Given the description of an element on the screen output the (x, y) to click on. 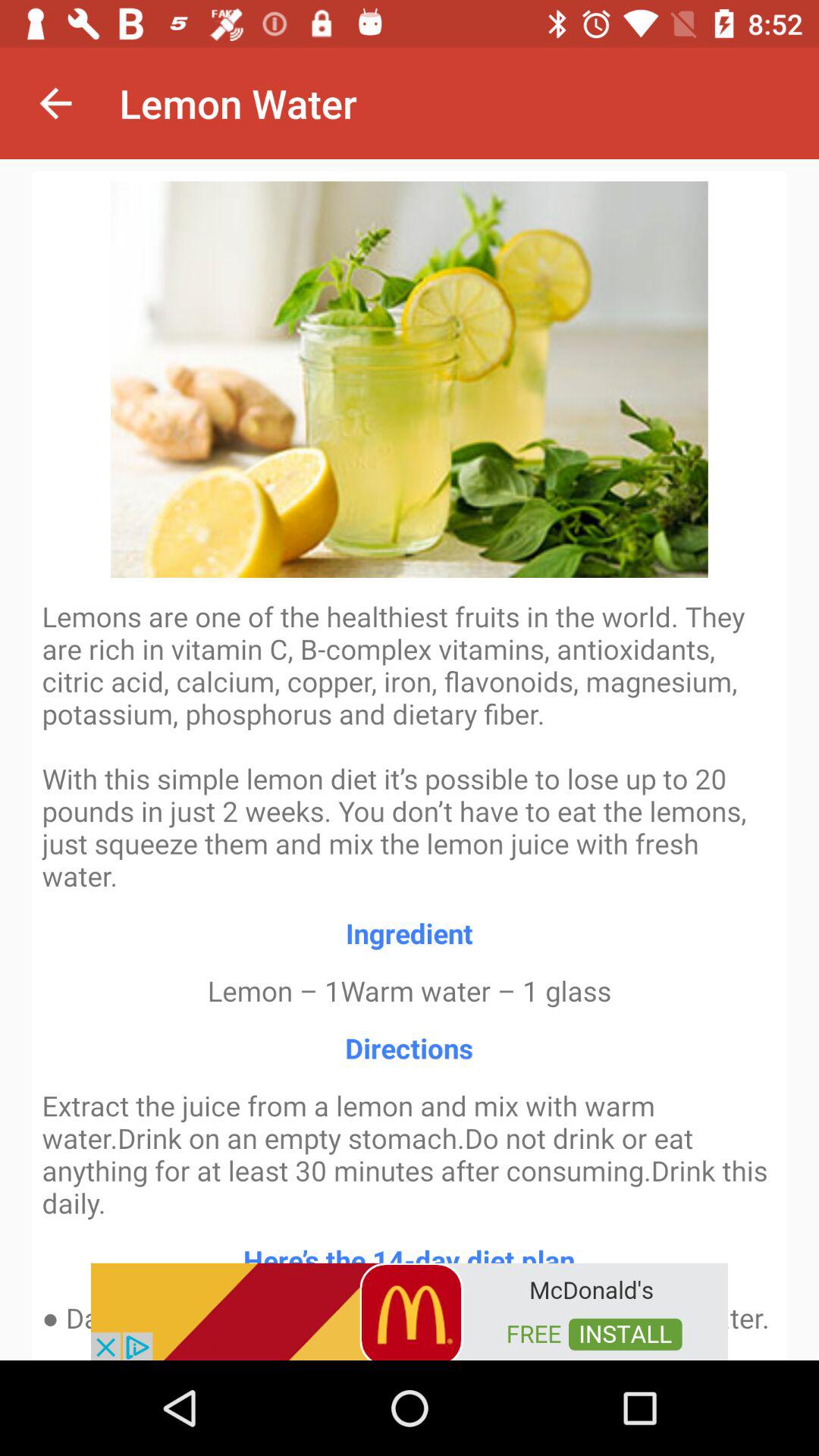
open the item to the left of the lemon water item (55, 103)
